Given the description of an element on the screen output the (x, y) to click on. 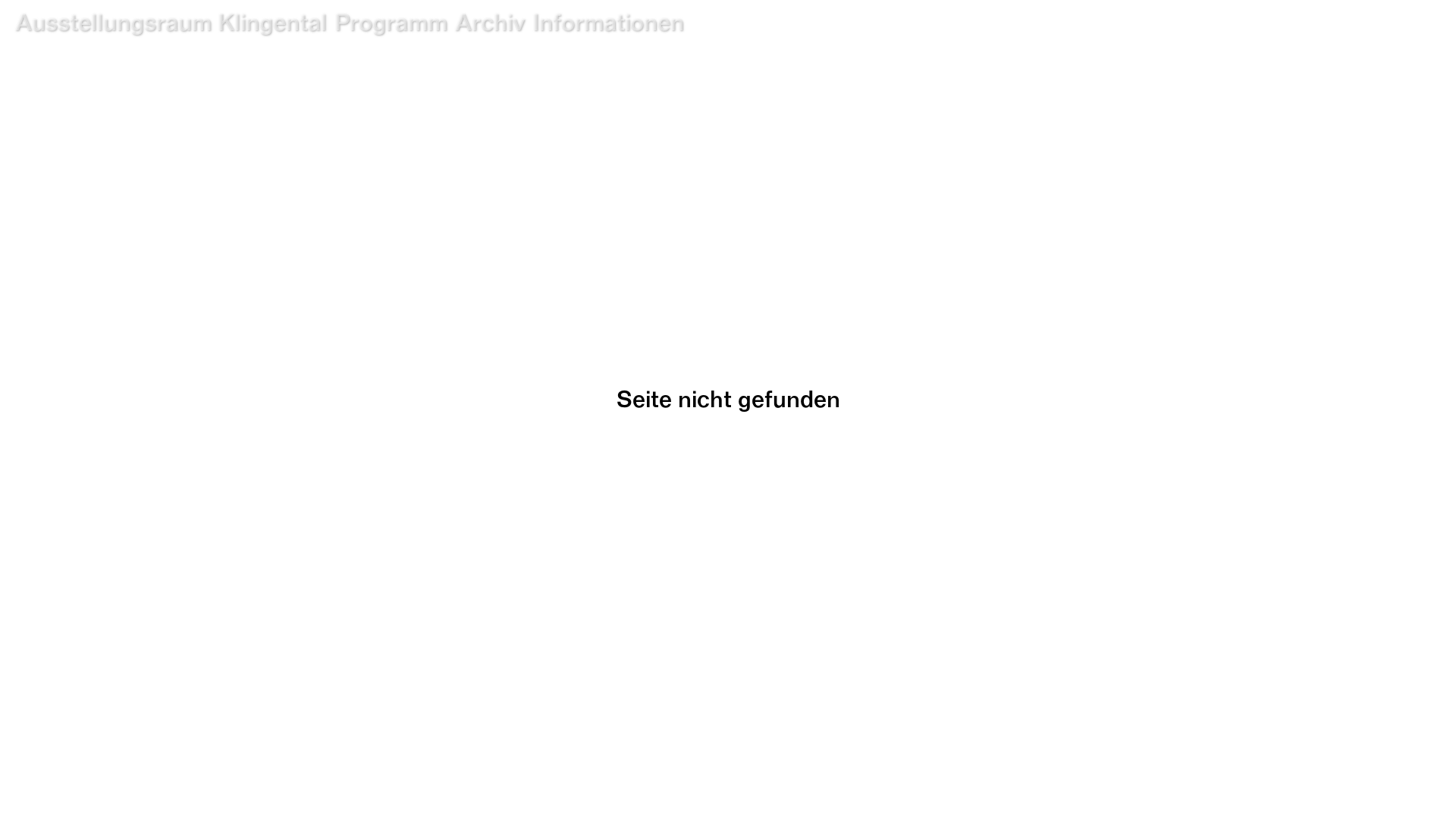
Ausstellungsraum Klingental Element type: text (170, 20)
Archiv Element type: text (489, 20)
Programm Element type: text (390, 20)
Informationen Element type: text (608, 20)
